Given the description of an element on the screen output the (x, y) to click on. 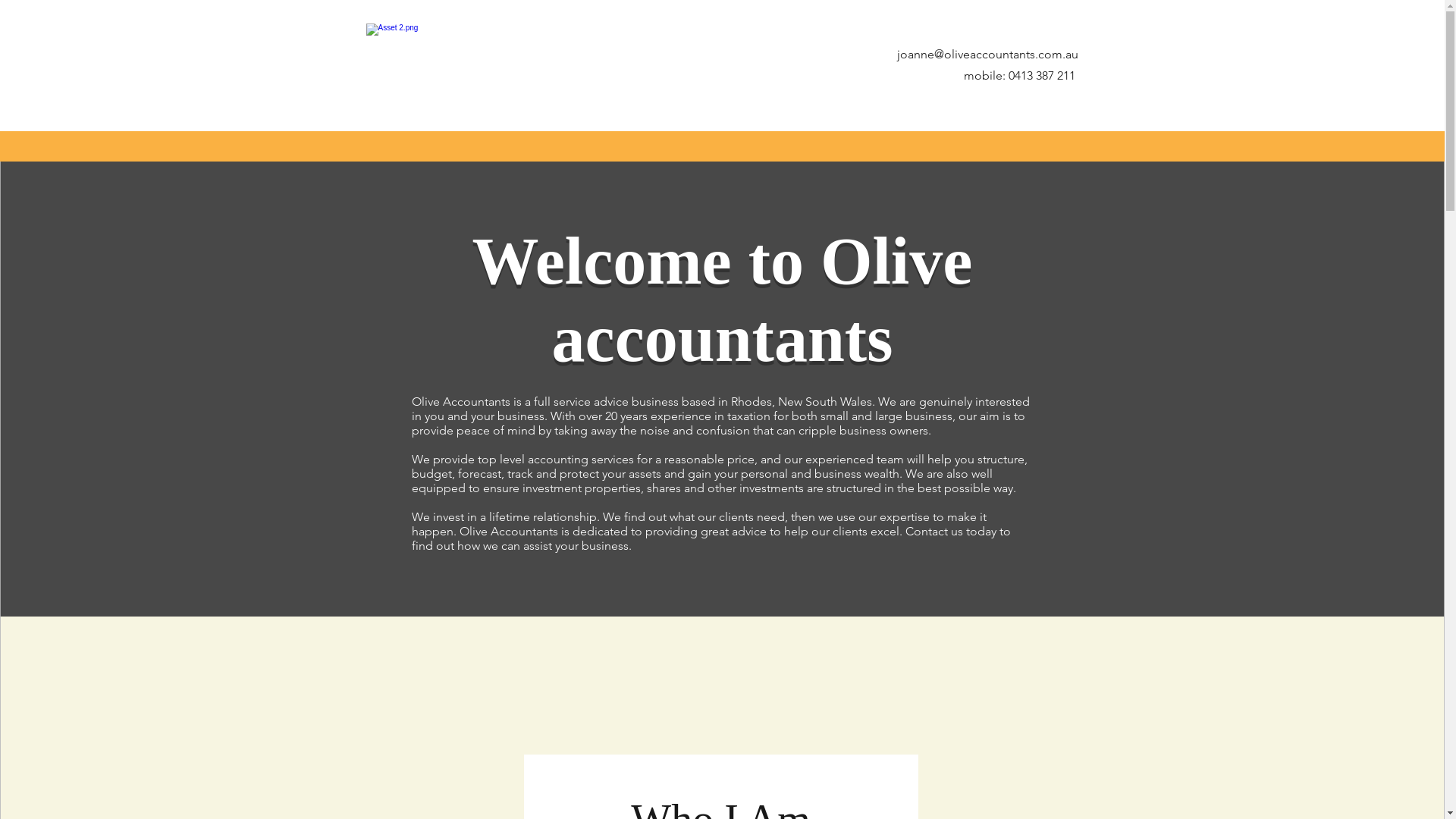
joanne@oliveaccountants.com.au Element type: text (986, 54)
